Given the description of an element on the screen output the (x, y) to click on. 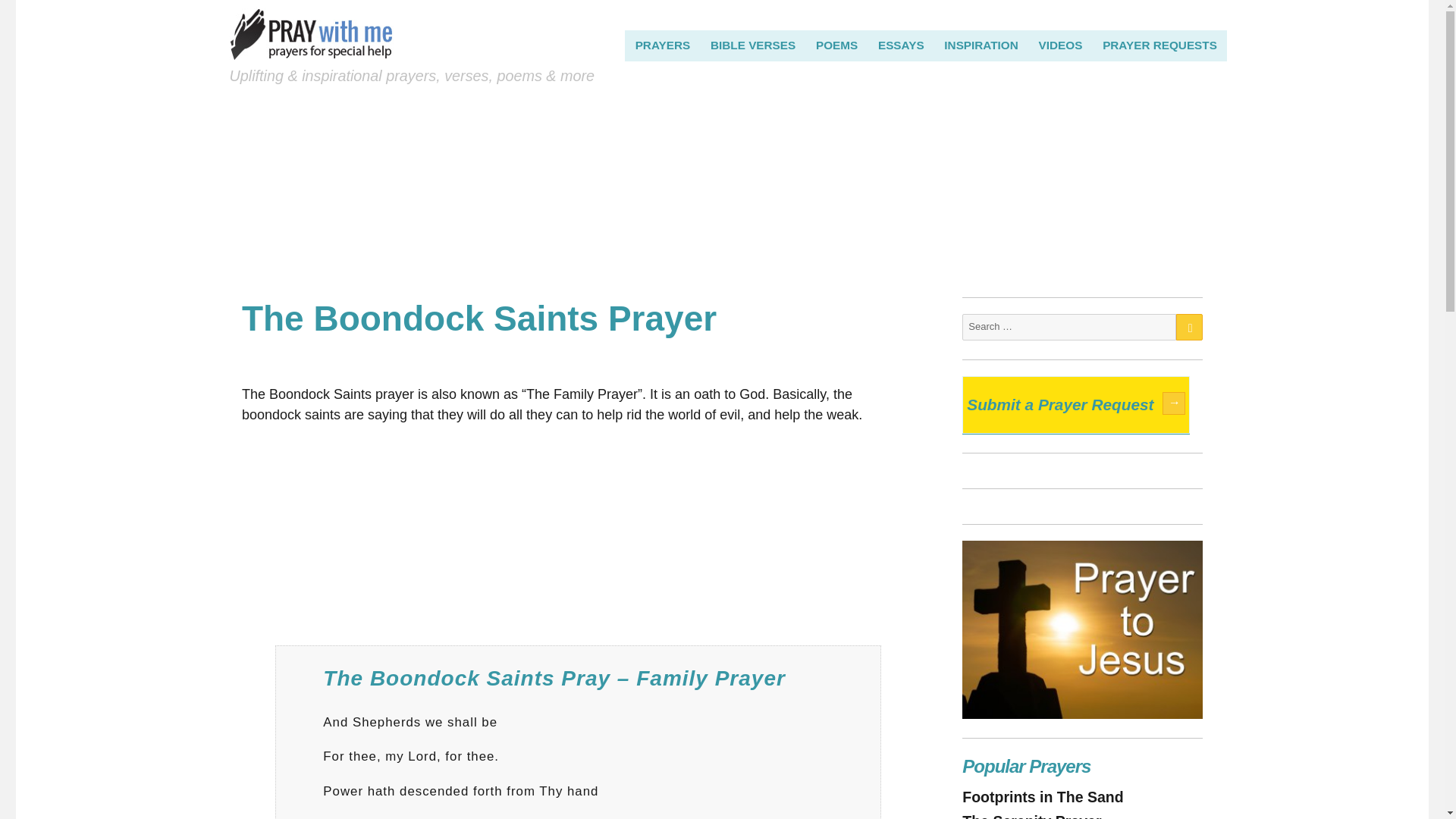
Footprints in The Sand (1042, 796)
PRAYER REQUESTS (1160, 45)
VIDEOS (1060, 45)
PRAYERS (662, 45)
INSPIRATION (980, 45)
POEMS (836, 45)
BIBLE VERSES (753, 45)
ESSAYS (900, 45)
The Serenity Prayer (1031, 816)
